Given the description of an element on the screen output the (x, y) to click on. 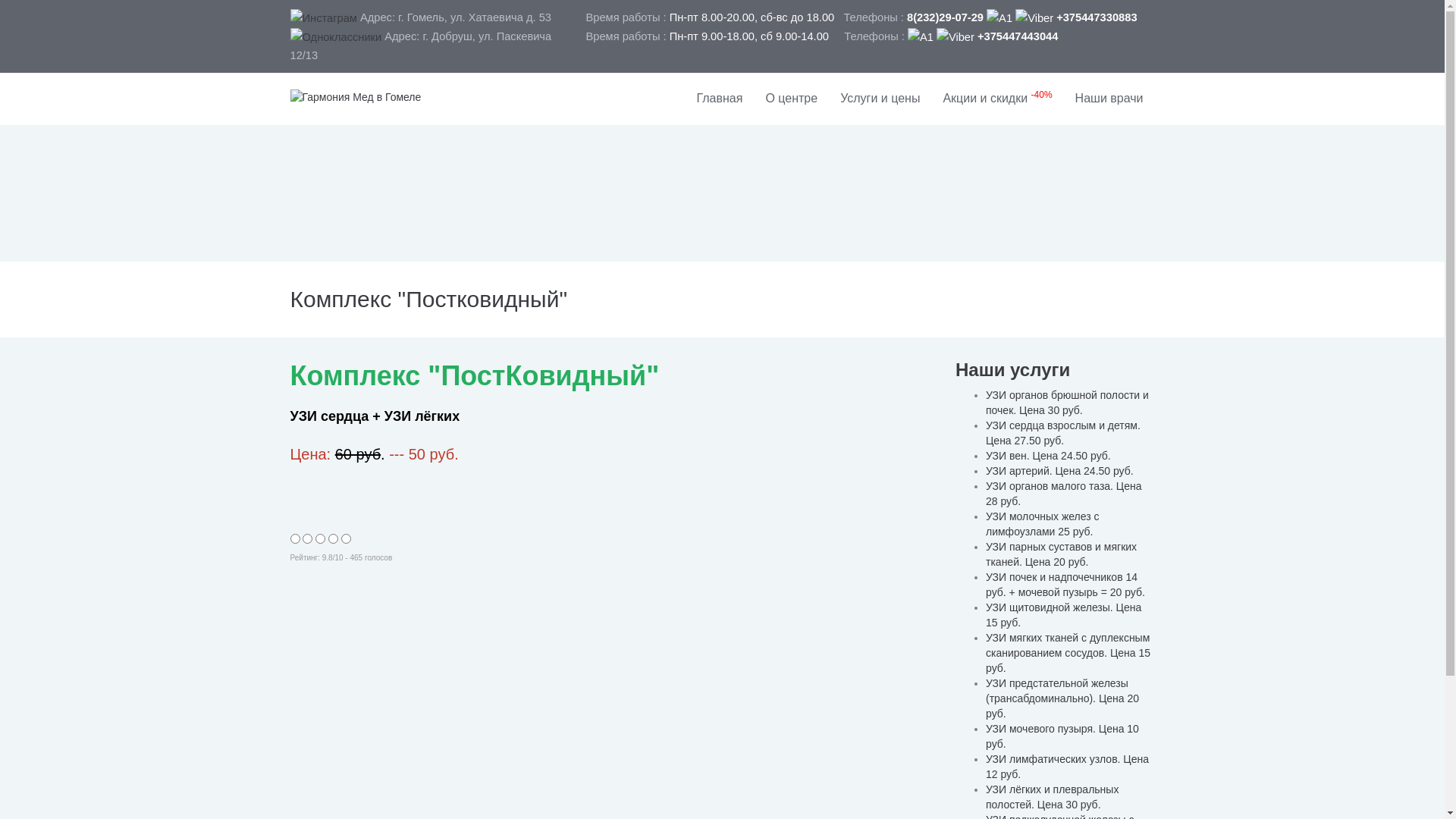
  +375447443044 Element type: text (982, 36)
8(232)29-07-29 Element type: text (944, 17)
  +375447330883 Element type: text (1061, 17)
